Given the description of an element on the screen output the (x, y) to click on. 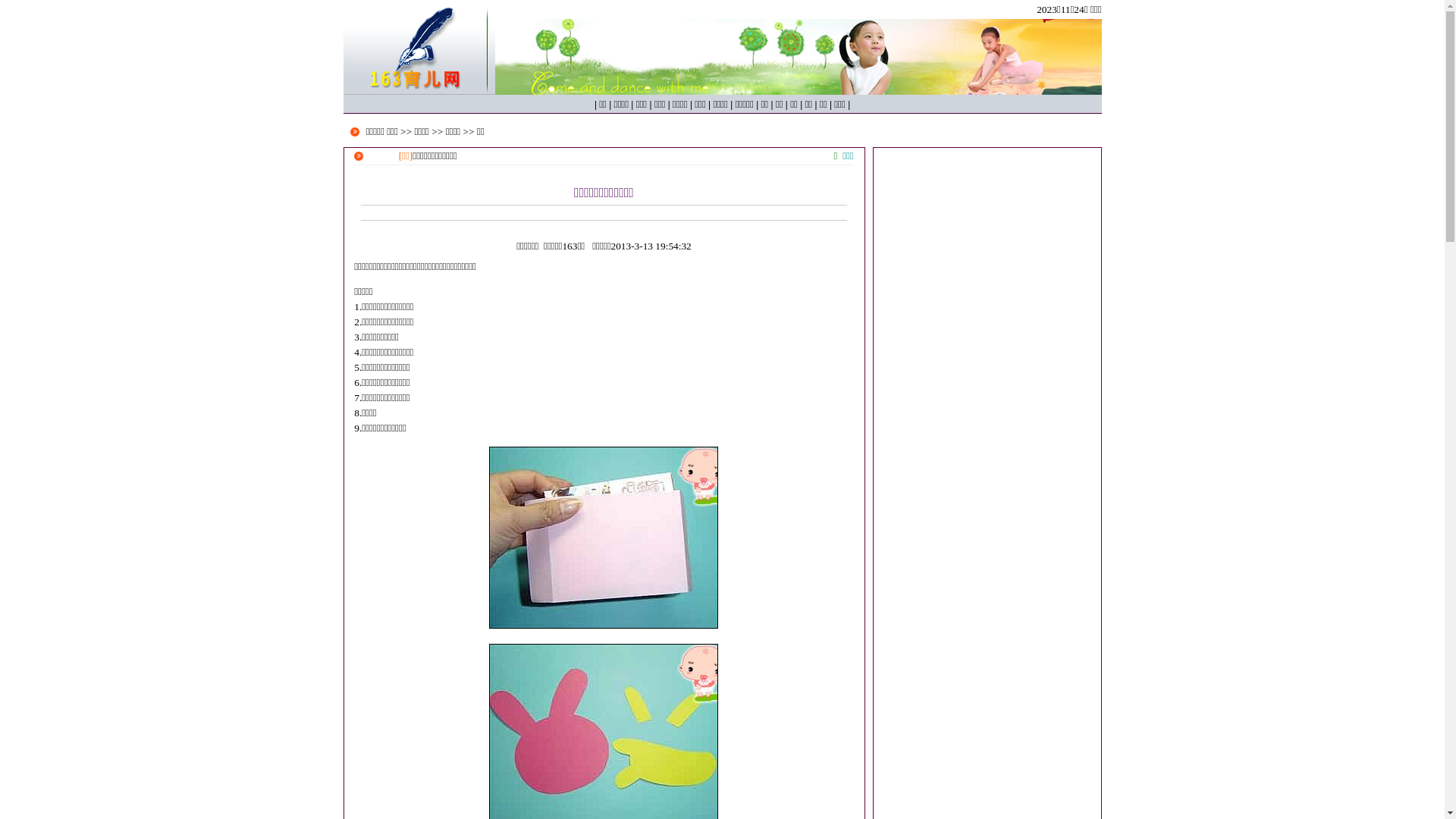
Advertisement Element type: hover (987, 668)
Advertisement Element type: hover (987, 242)
Advertisement Element type: hover (987, 463)
